Given the description of an element on the screen output the (x, y) to click on. 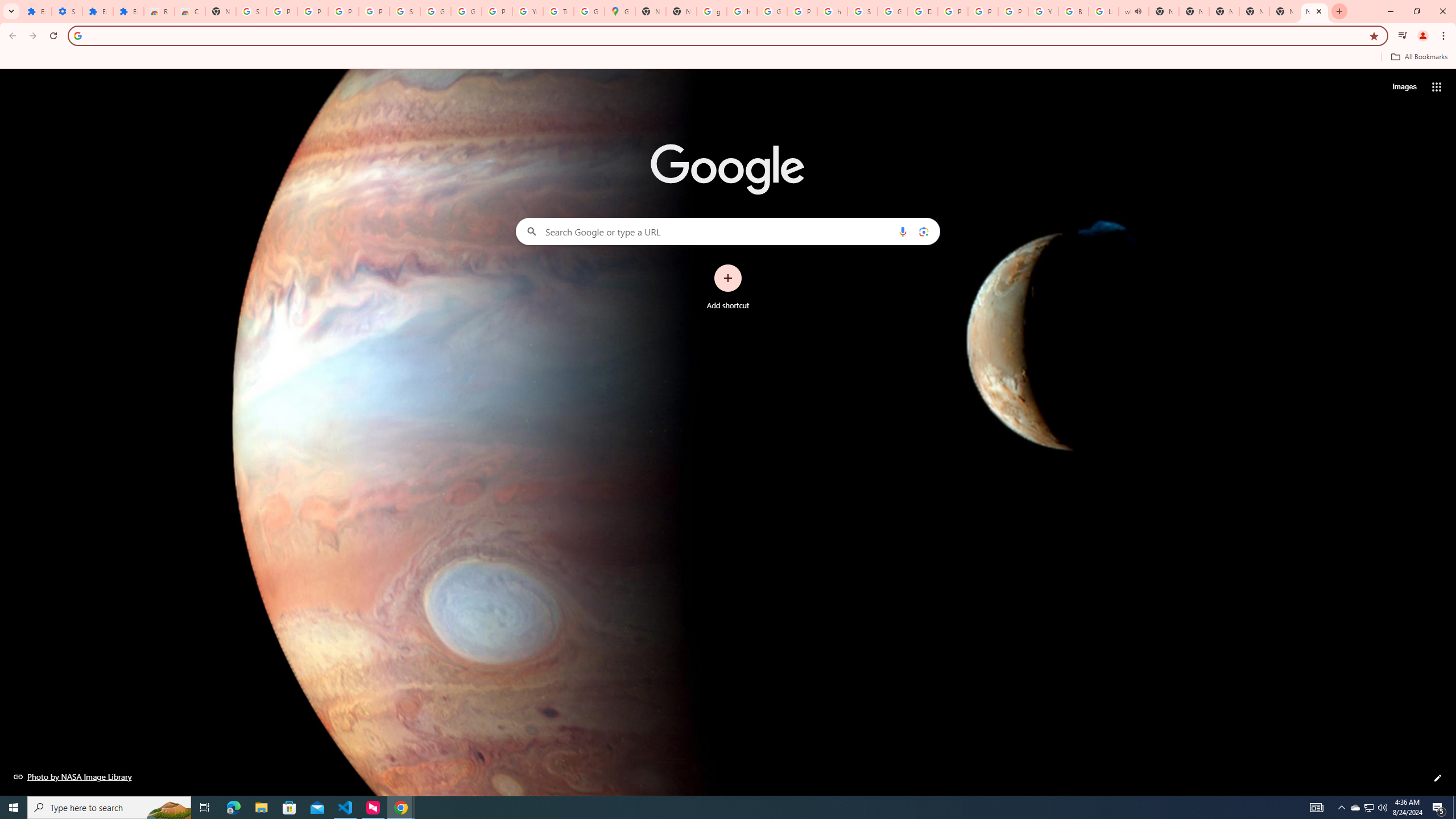
Bookmarks (728, 58)
Search icon (77, 35)
Customize this page (1437, 778)
YouTube (1042, 11)
Privacy Help Center - Policies Help (952, 11)
Privacy Help Center - Policies Help (982, 11)
